Given the description of an element on the screen output the (x, y) to click on. 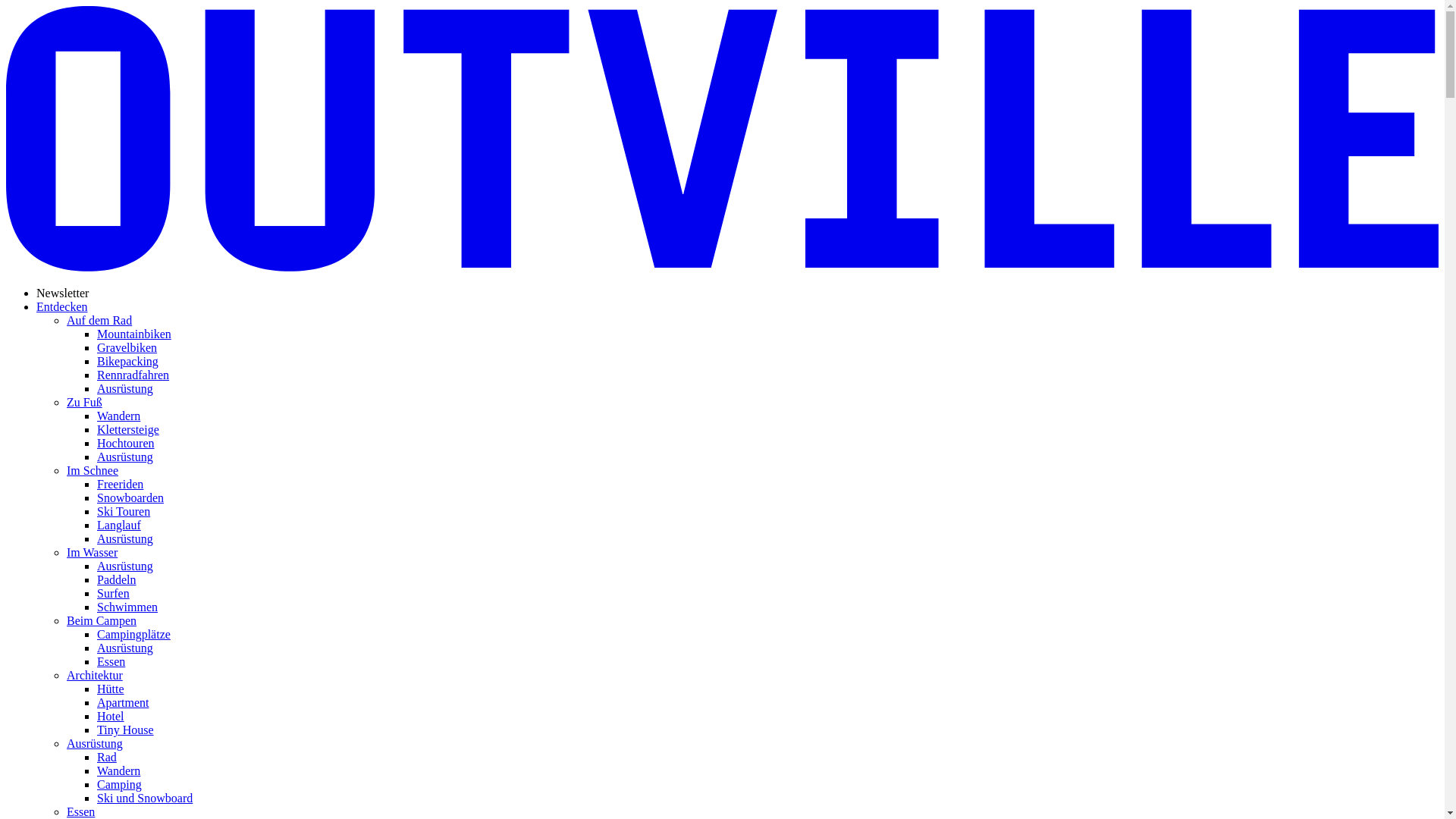
Langlauf Element type: text (119, 524)
Tiny House Element type: text (125, 729)
Architektur Element type: text (94, 674)
Paddeln Element type: text (116, 579)
Entdecken Element type: text (61, 306)
Apartment Element type: text (122, 702)
Beim Campen Element type: text (101, 620)
Rennradfahren Element type: text (133, 374)
Bikepacking Element type: text (127, 360)
Freeriden Element type: text (120, 483)
Rad Element type: text (106, 756)
Ski Touren Element type: text (123, 511)
Wandern Element type: text (118, 770)
Surfen Element type: text (113, 592)
Schwimmen Element type: text (127, 606)
Gravelbiken Element type: text (126, 347)
Auf dem Rad Element type: text (98, 319)
Klettersteige Element type: text (128, 429)
Ski und Snowboard Element type: text (144, 797)
Hotel Element type: text (110, 715)
Im Wasser Element type: text (91, 552)
Im Schnee Element type: text (92, 470)
Wandern Element type: text (118, 415)
Snowboarden Element type: text (130, 497)
Essen Element type: text (111, 661)
Camping Element type: text (119, 784)
Mountainbiken Element type: text (134, 333)
Hochtouren Element type: text (125, 442)
Essen Element type: text (80, 811)
